Given the description of an element on the screen output the (x, y) to click on. 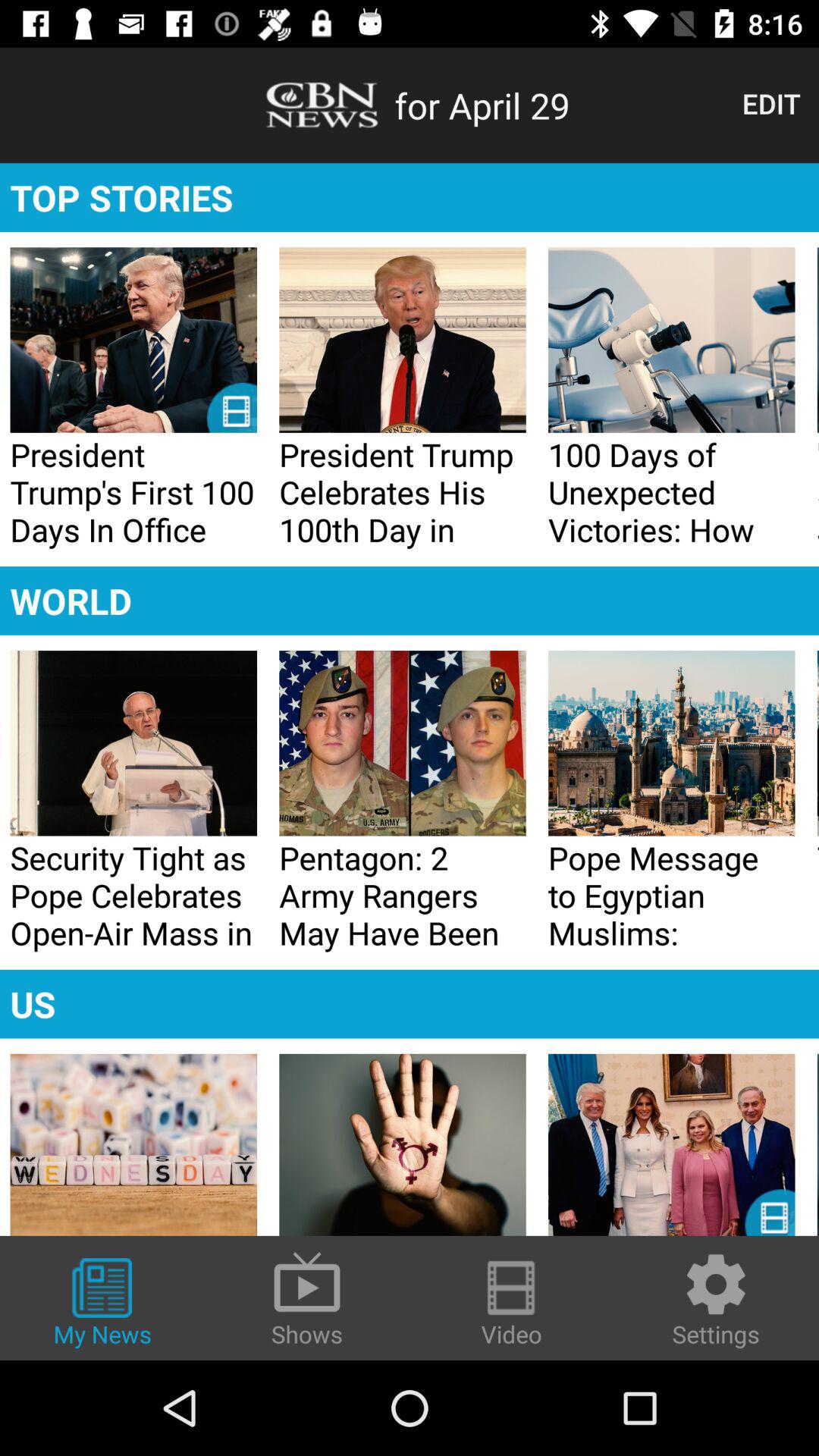
press icon to the left of shows icon (102, 1304)
